Given the description of an element on the screen output the (x, y) to click on. 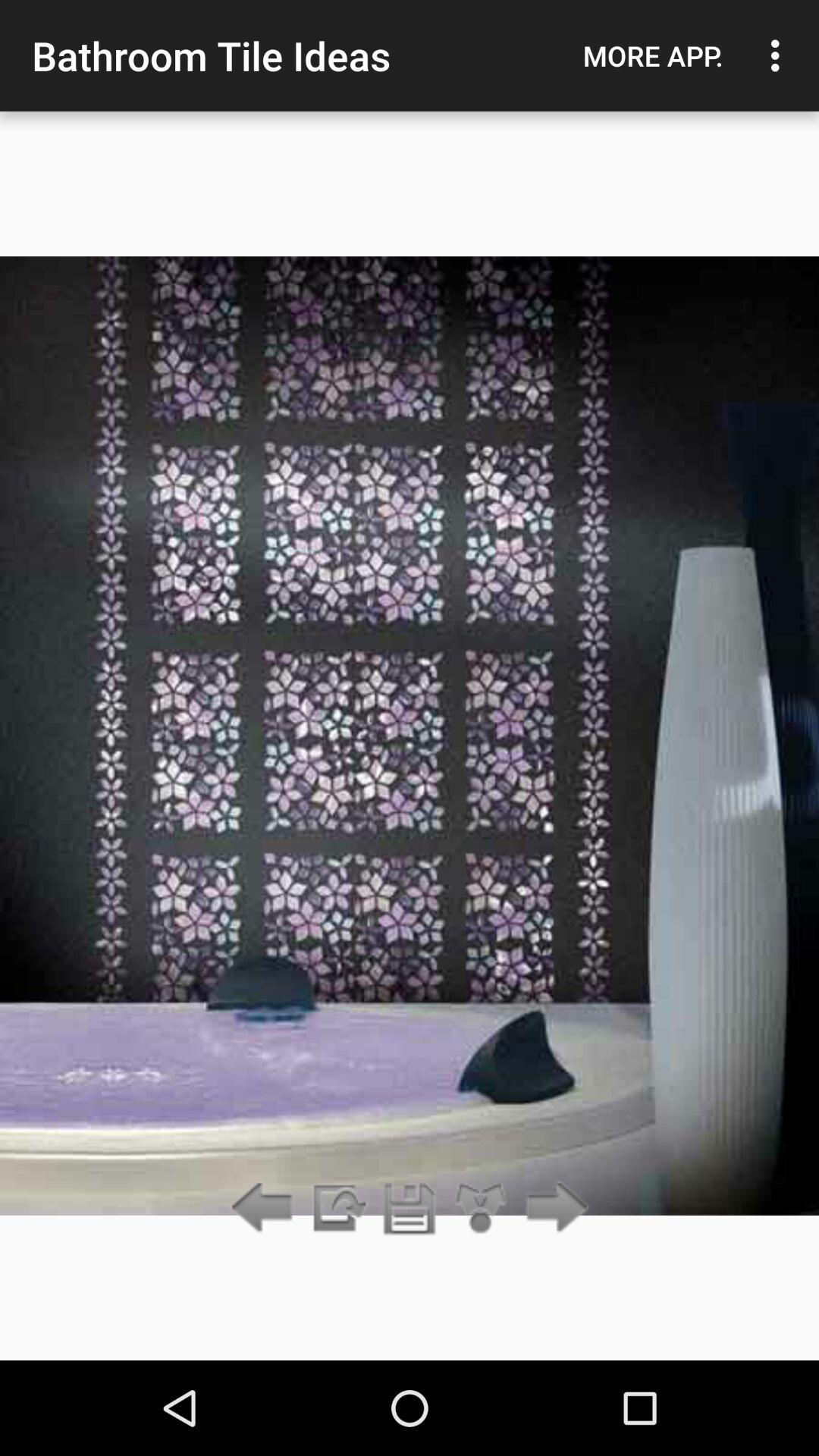
go back (266, 1209)
